Given the description of an element on the screen output the (x, y) to click on. 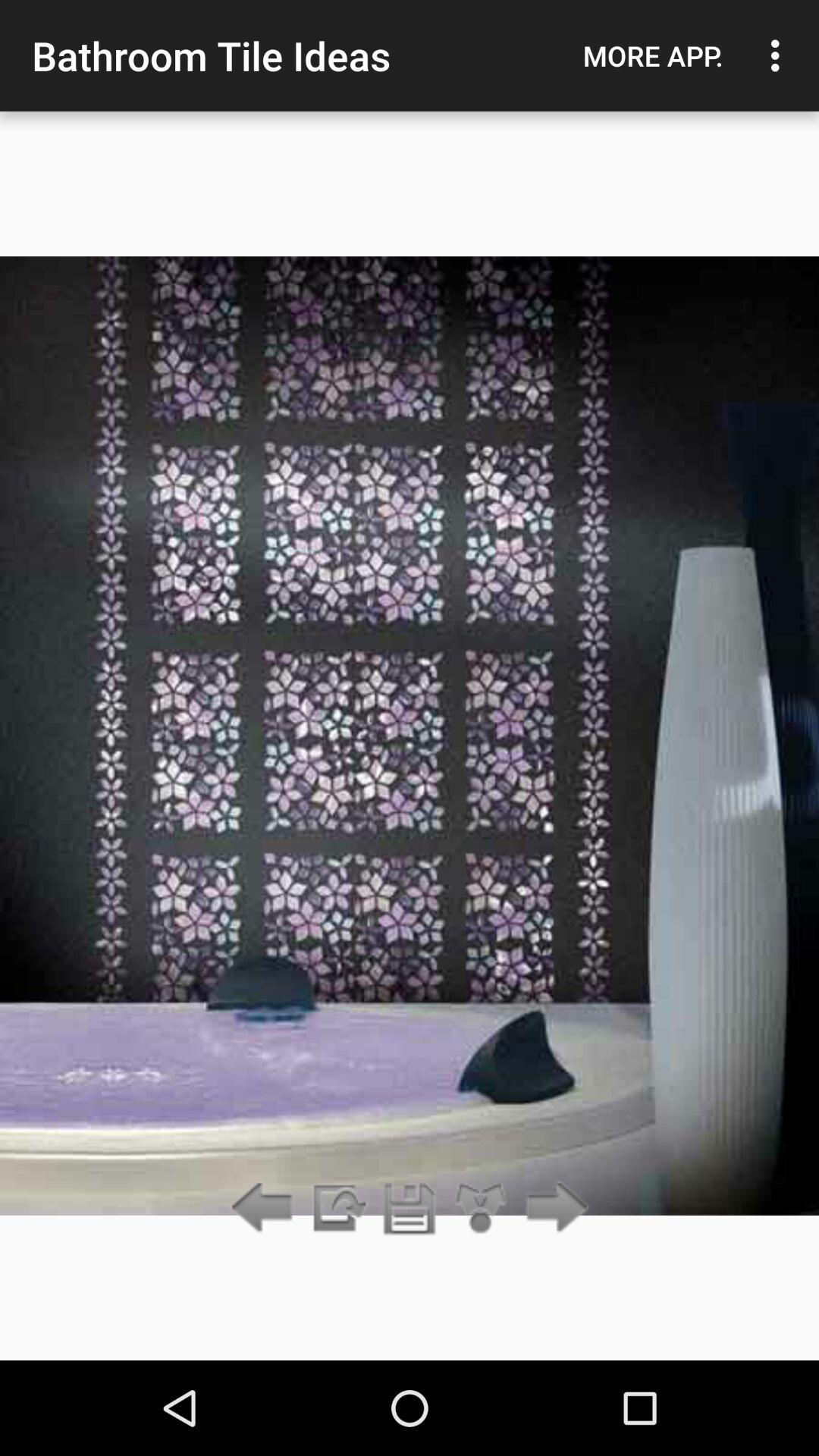
go back (266, 1209)
